Given the description of an element on the screen output the (x, y) to click on. 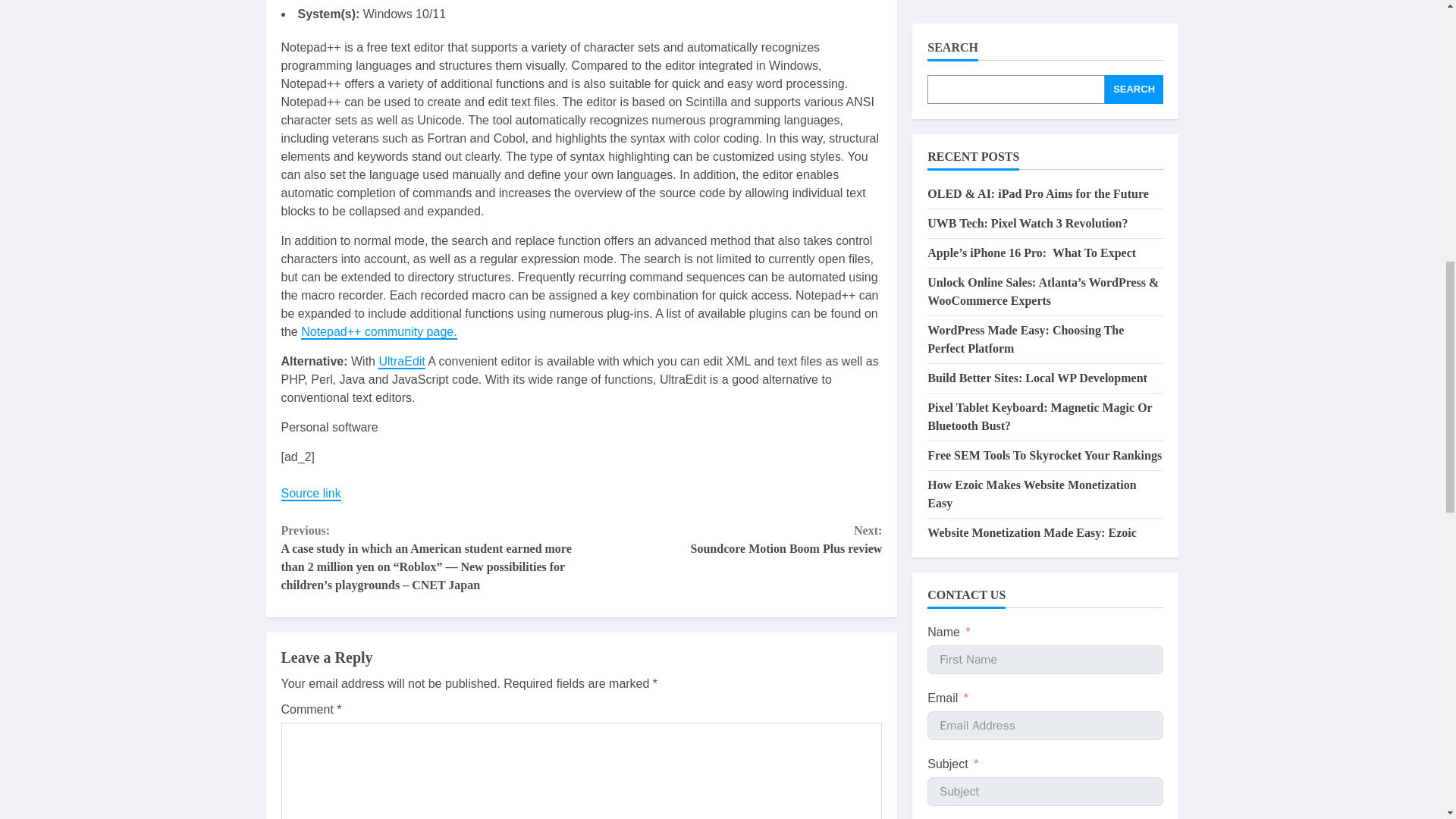
Source link (310, 493)
UltraEdit (401, 361)
